Given the description of an element on the screen output the (x, y) to click on. 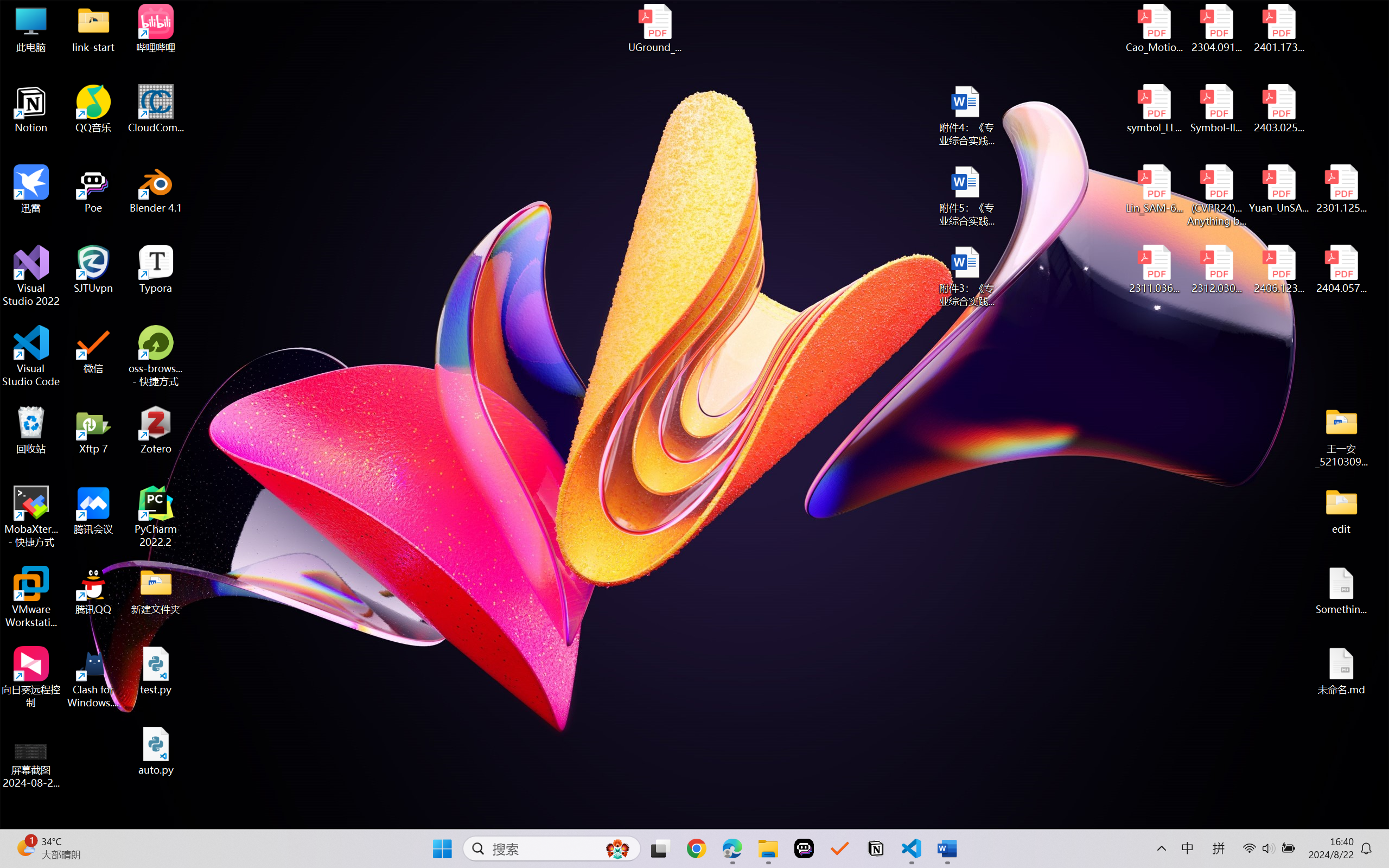
Typora (156, 269)
Xftp 7 (93, 430)
(CVPR24)Matching Anything by Segmenting Anything.pdf (1216, 195)
PyCharm 2022.2 (156, 516)
SJTUvpn (93, 269)
edit (1340, 510)
2312.03032v2.pdf (1216, 269)
auto.py (156, 751)
Notion (875, 848)
